Given the description of an element on the screen output the (x, y) to click on. 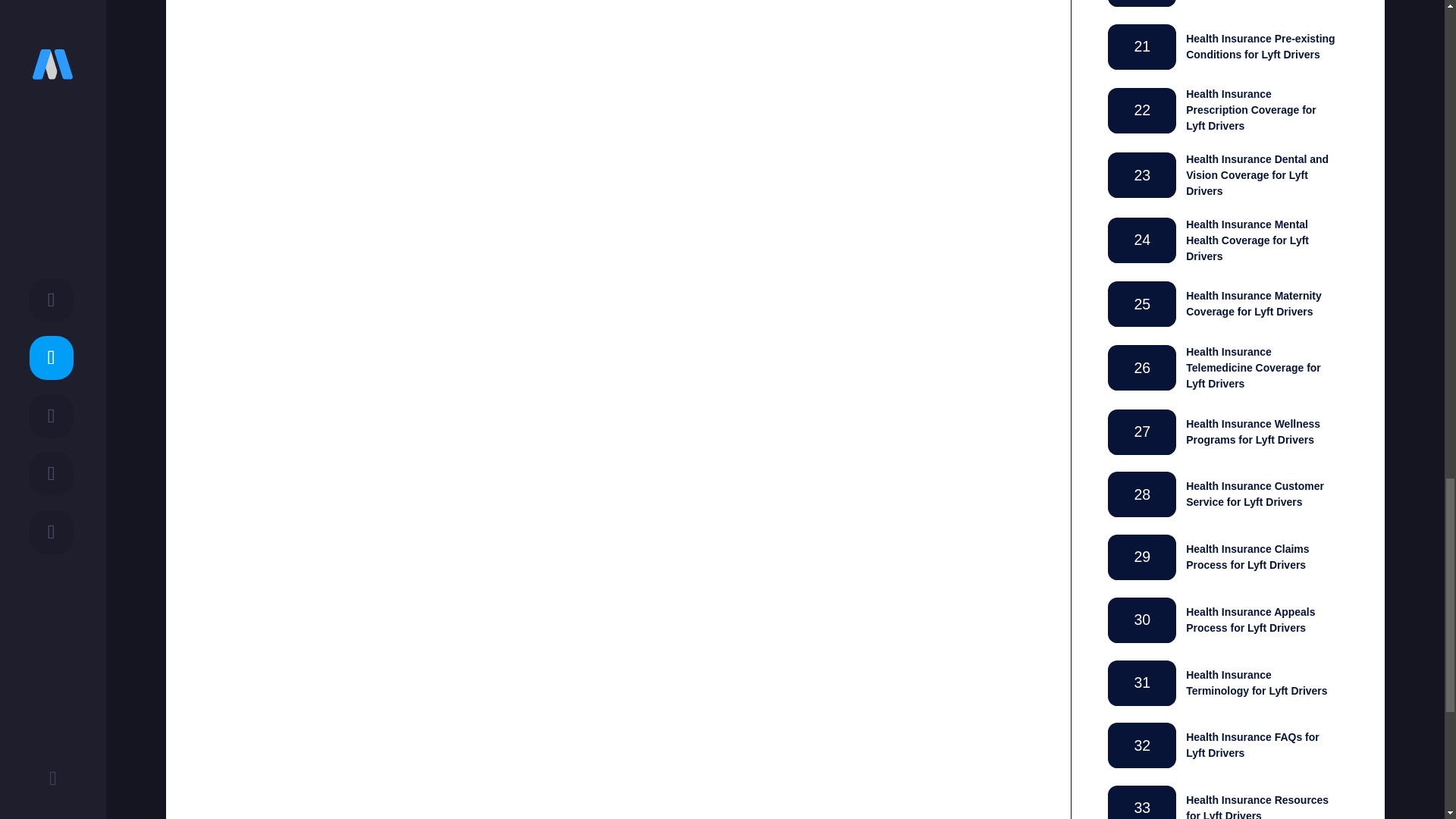
Health Insurance Dental and Vision Coverage for Lyft Drivers (1256, 175)
Health Insurance Pre-existing Conditions for Lyft Drivers (1260, 46)
Health Insurance Prescription Coverage for Lyft Drivers (1251, 109)
